Given the description of an element on the screen output the (x, y) to click on. 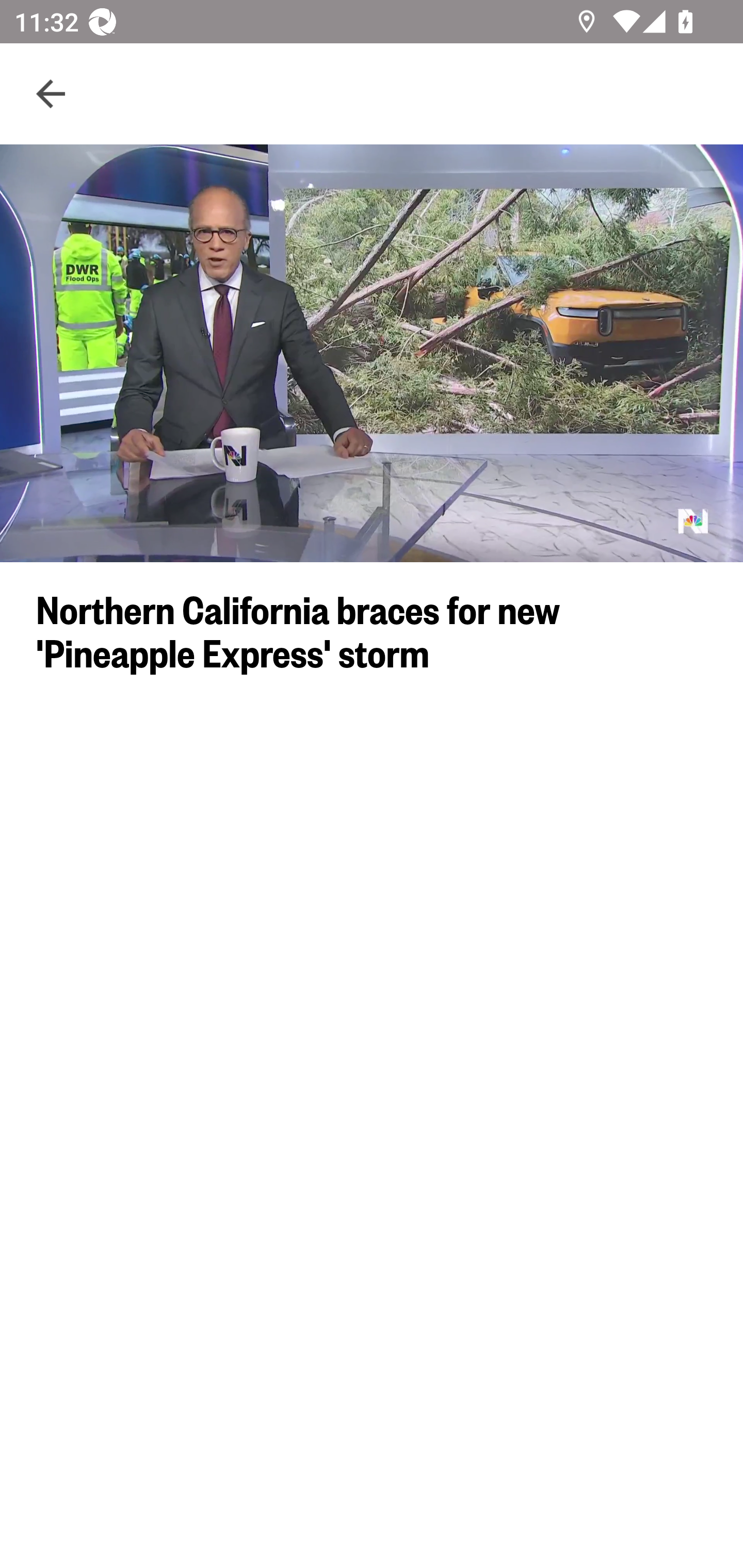
Navigate up (50, 93)
